Given the description of an element on the screen output the (x, y) to click on. 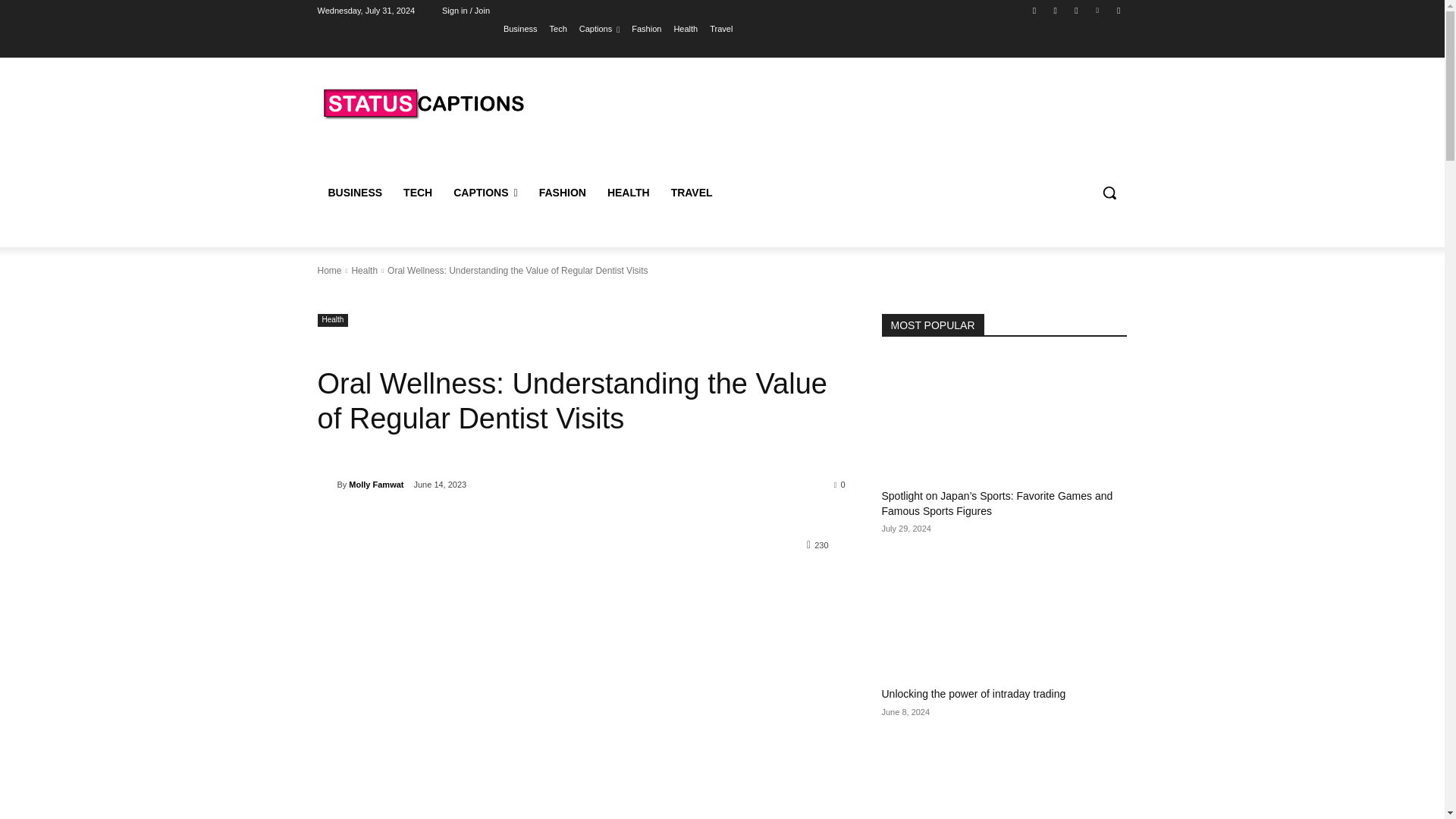
Youtube (1117, 9)
Captions (599, 28)
Home (328, 270)
Travel (721, 28)
Fashion (646, 28)
Twitter (1075, 9)
FASHION (562, 192)
BUSINESS (355, 192)
HEALTH (628, 192)
Health (684, 28)
Vimeo (1097, 9)
Business (520, 28)
TECH (417, 192)
Instagram (1055, 9)
CAPTIONS (484, 192)
